Given the description of an element on the screen output the (x, y) to click on. 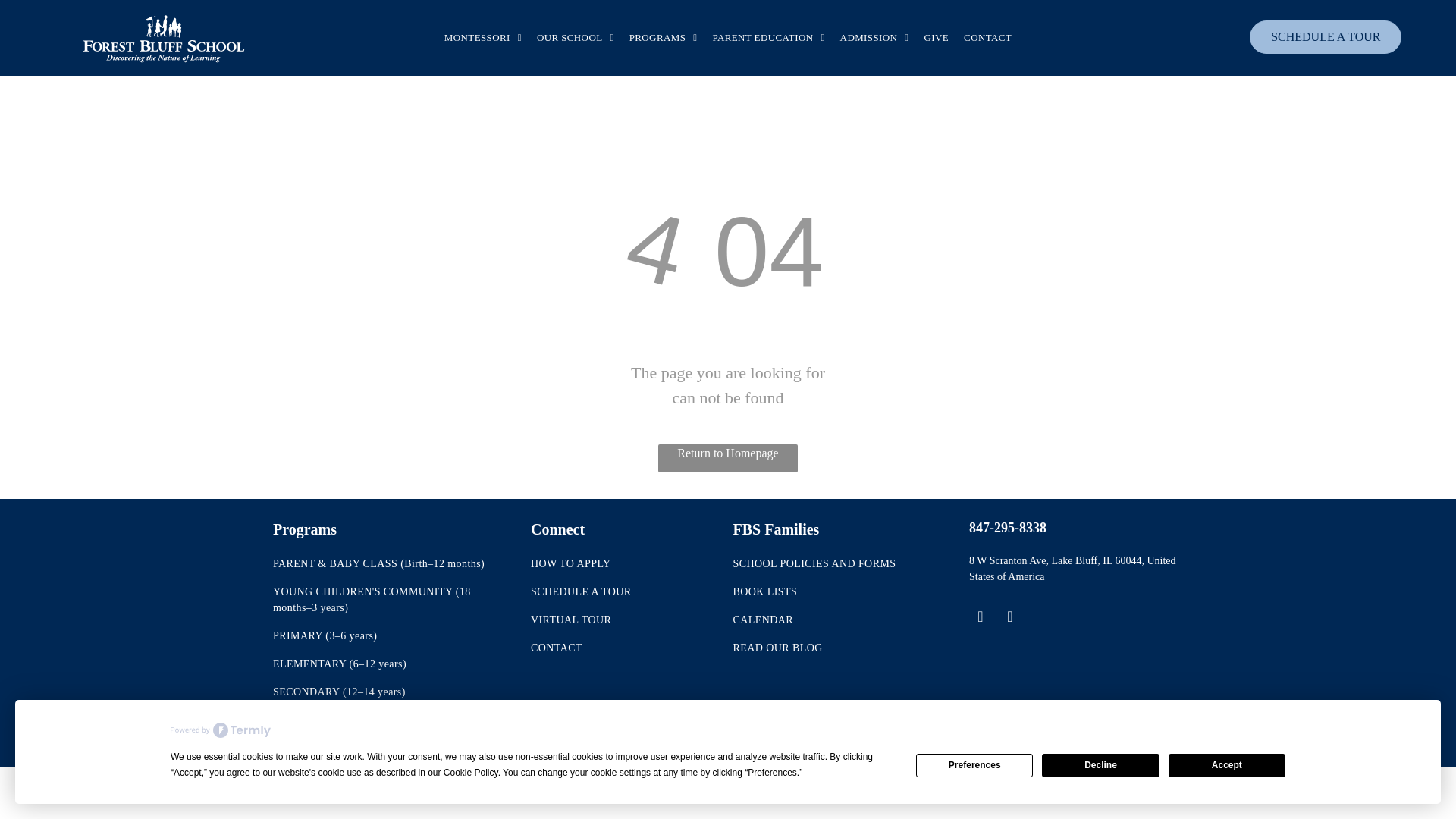
Preferences (973, 765)
Decline (1100, 765)
Accept (1227, 765)
